Given the description of an element on the screen output the (x, y) to click on. 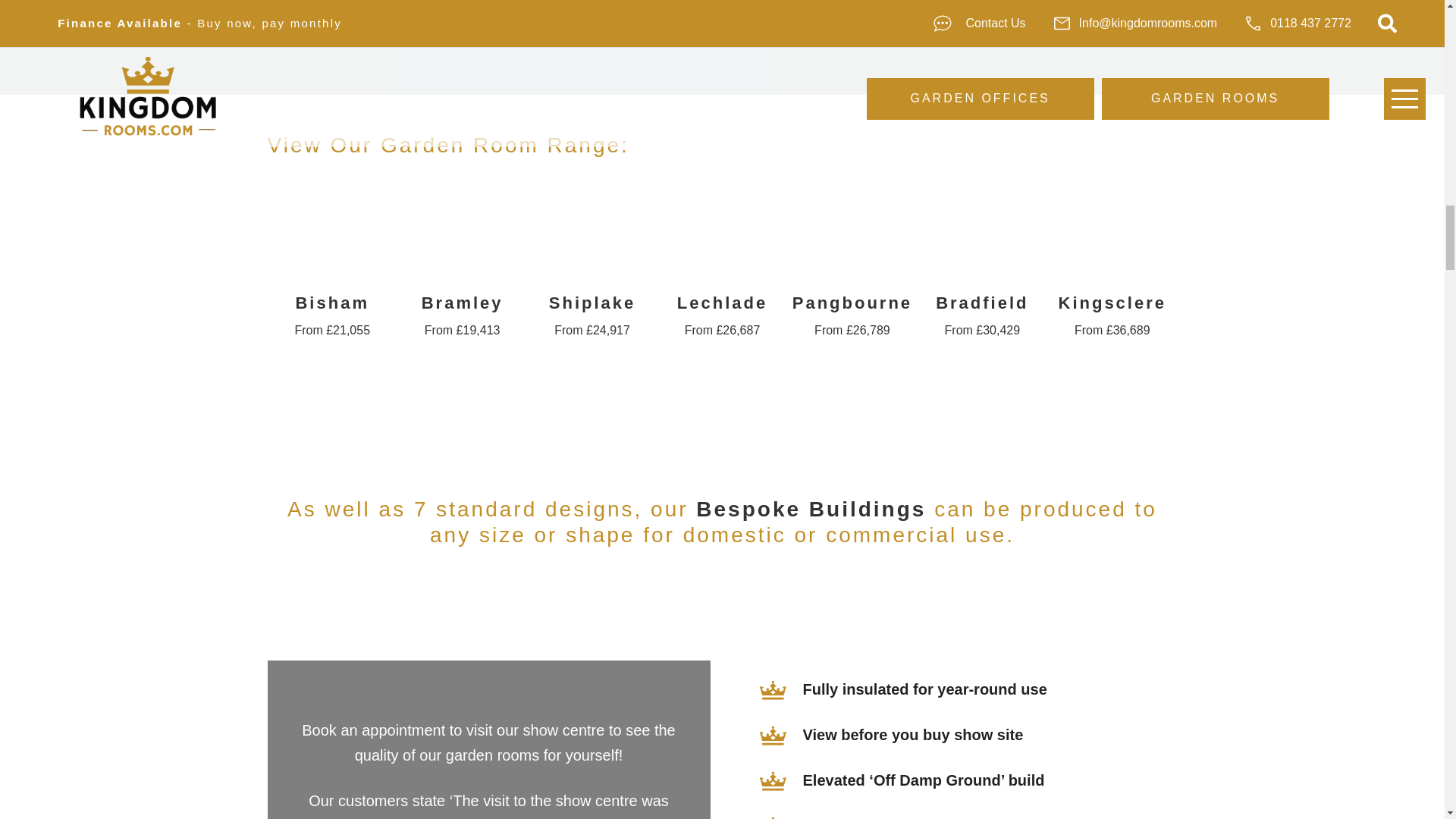
Bramley (462, 311)
Bisham (332, 311)
